Given the description of an element on the screen output the (x, y) to click on. 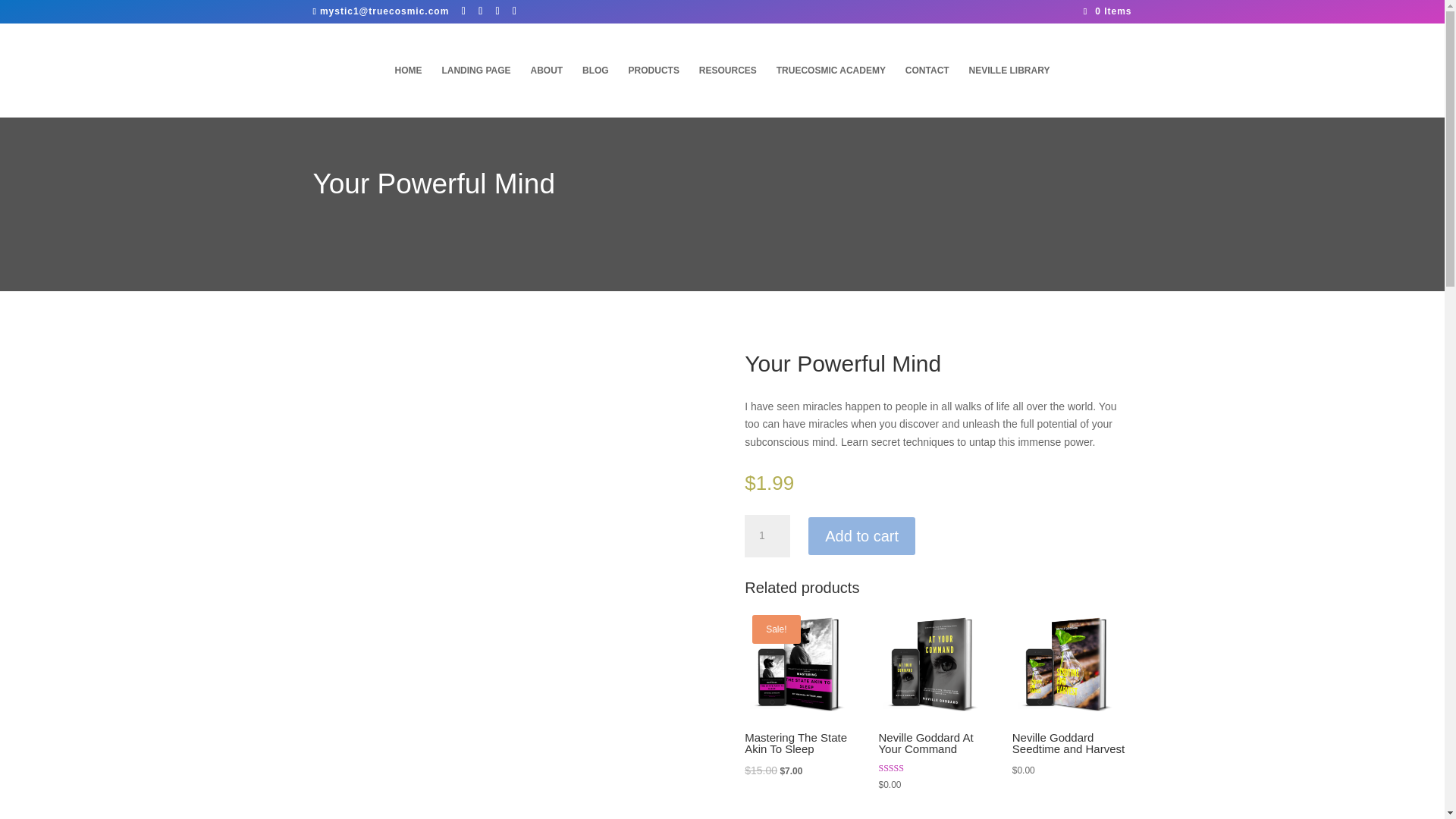
RESOURCES (727, 91)
NEVILLE LIBRARY (1009, 91)
PRODUCTS (653, 91)
TRUECOSMIC ACADEMY (830, 91)
Add to cart (861, 535)
LANDING PAGE (476, 91)
0 Items (1107, 10)
1 (767, 536)
